Given the description of an element on the screen output the (x, y) to click on. 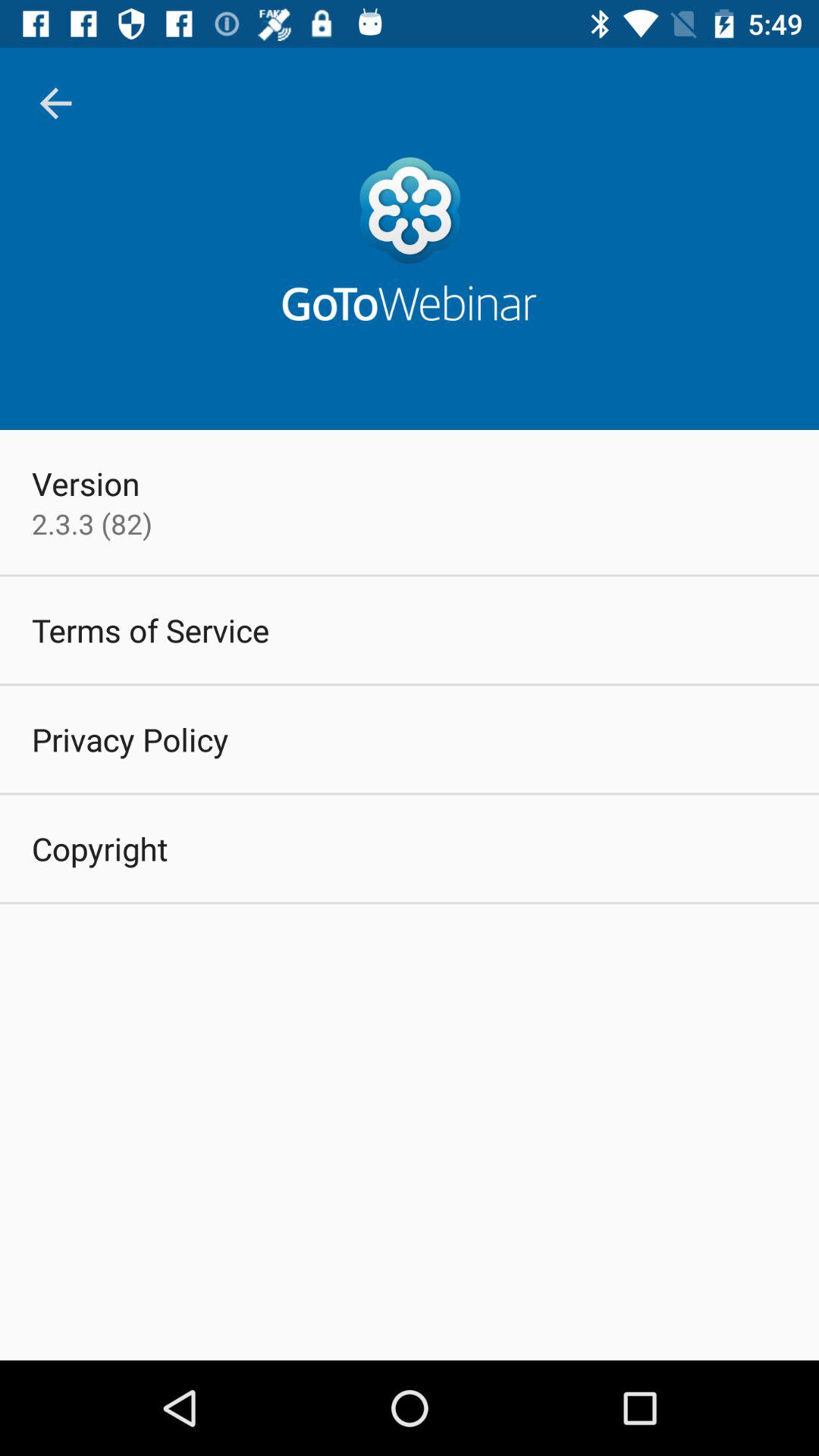
scroll to the copyright item (99, 848)
